Given the description of an element on the screen output the (x, y) to click on. 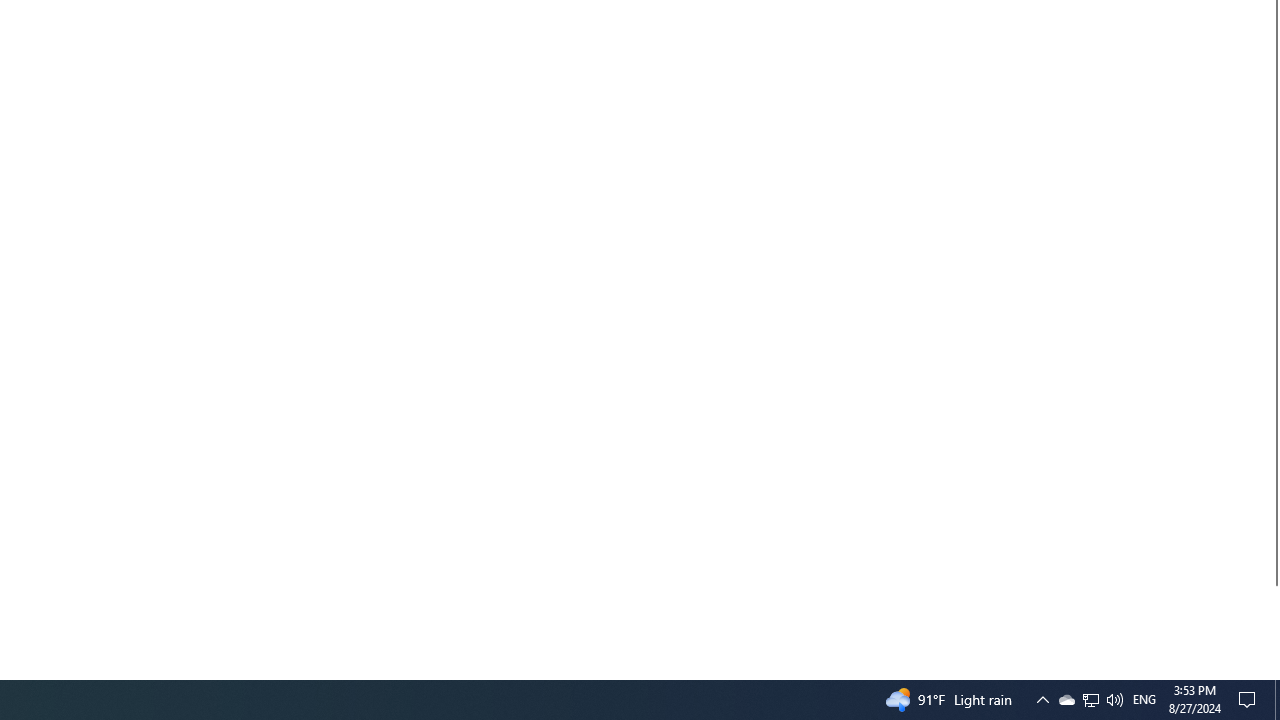
Vertical Large Increase (1272, 624)
Vertical Small Increase (1272, 671)
